Given the description of an element on the screen output the (x, y) to click on. 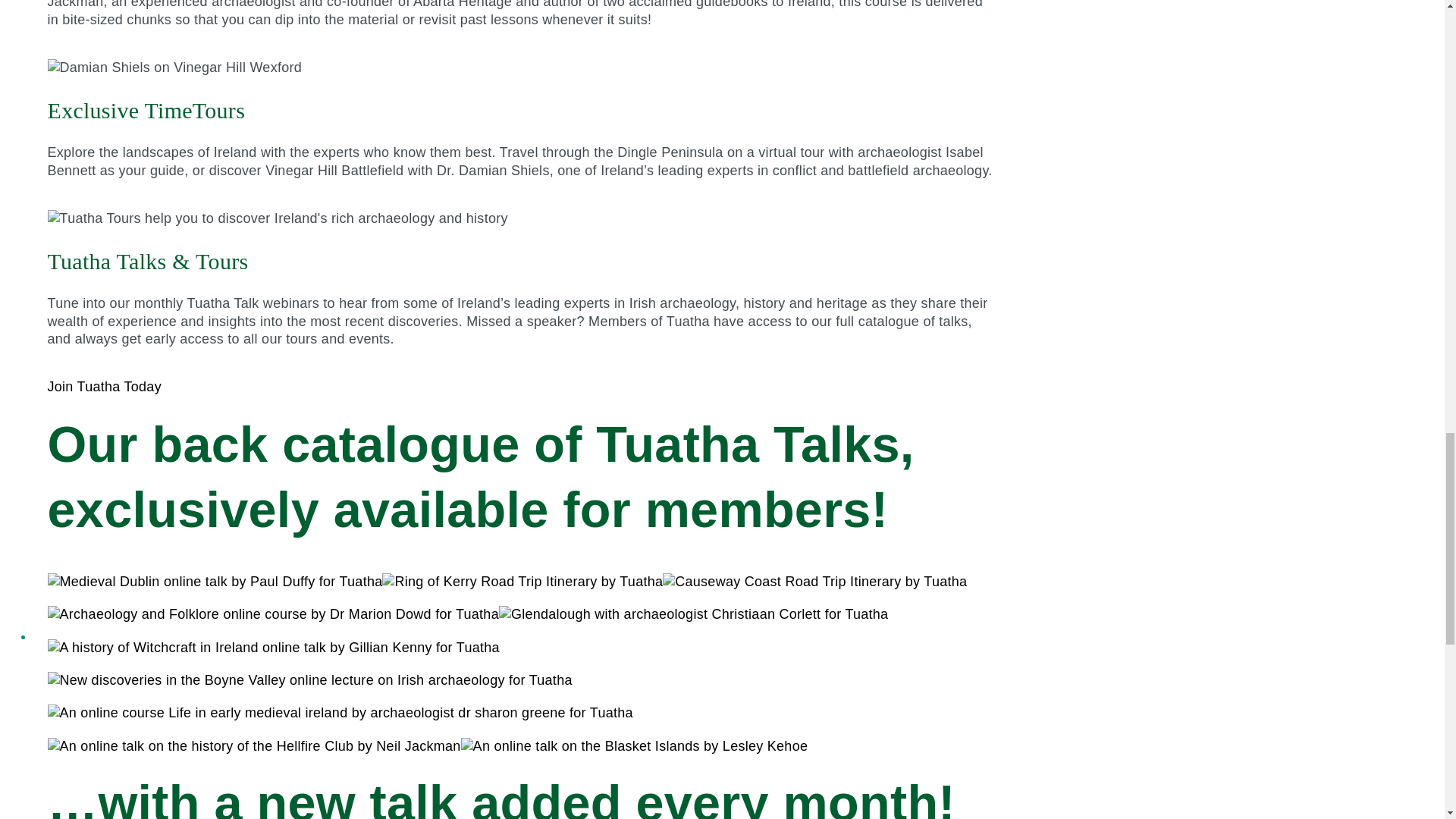
Join Tuatha Today (104, 386)
Damian Shiels Vinegar Hill (174, 67)
Tuatha Tour (278, 218)
